Given the description of an element on the screen output the (x, y) to click on. 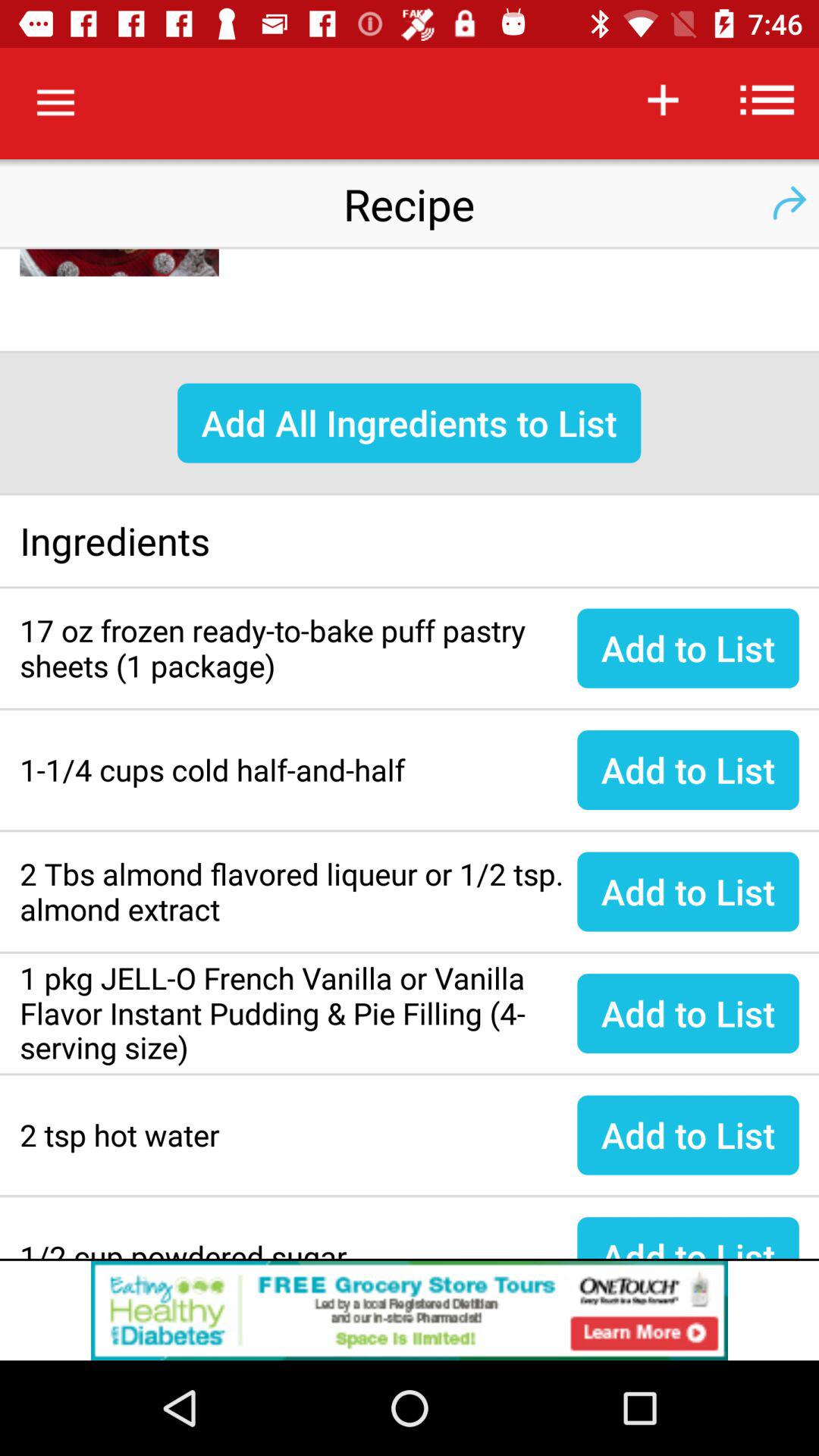
banner advertisement (409, 1310)
